Given the description of an element on the screen output the (x, y) to click on. 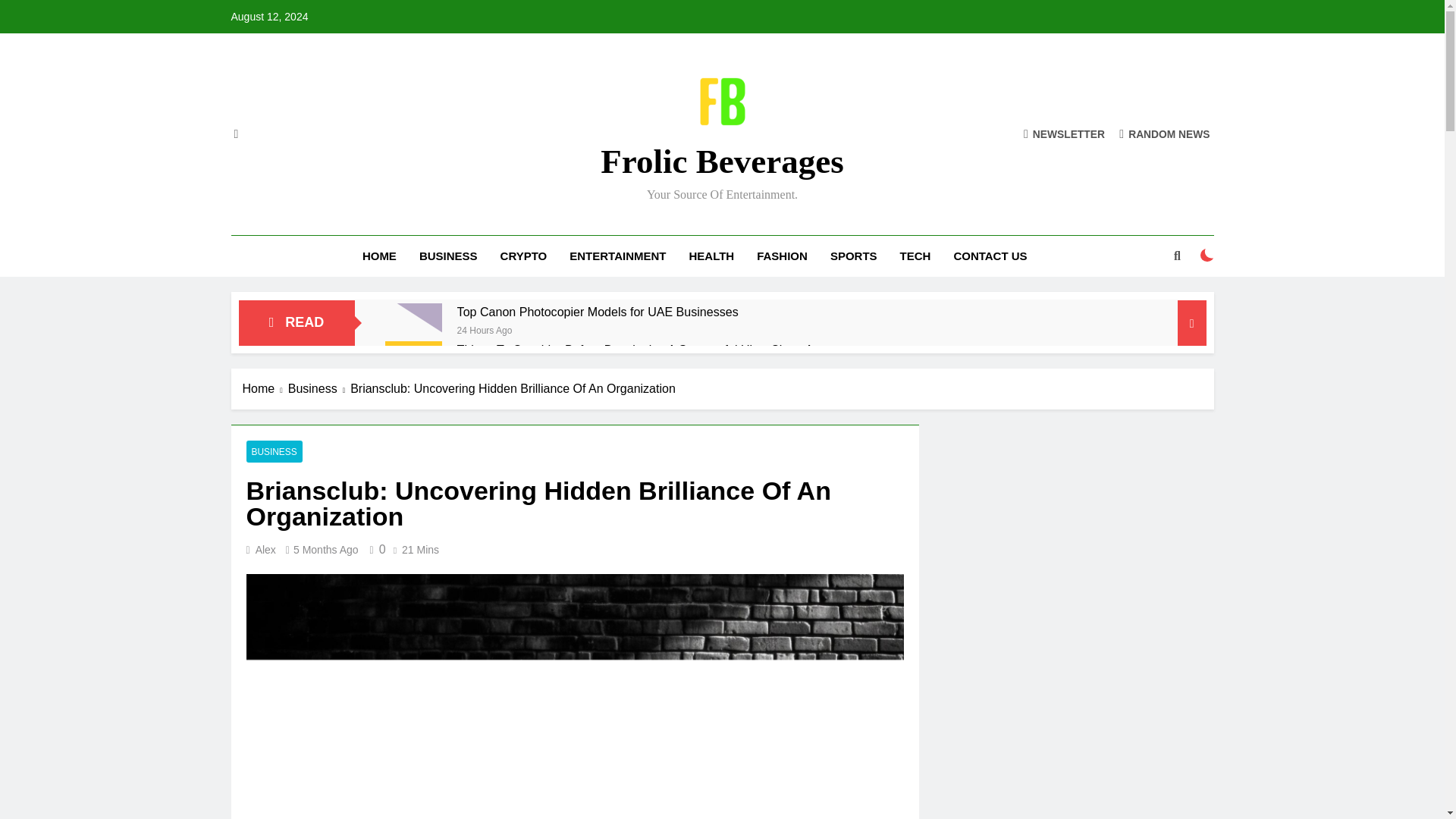
BUSINESS (448, 255)
on (1206, 255)
HOME (378, 255)
Frolic Beverages (721, 161)
24 Hours Ago (484, 328)
SPORTS (853, 255)
CRYPTO (524, 255)
